Given the description of an element on the screen output the (x, y) to click on. 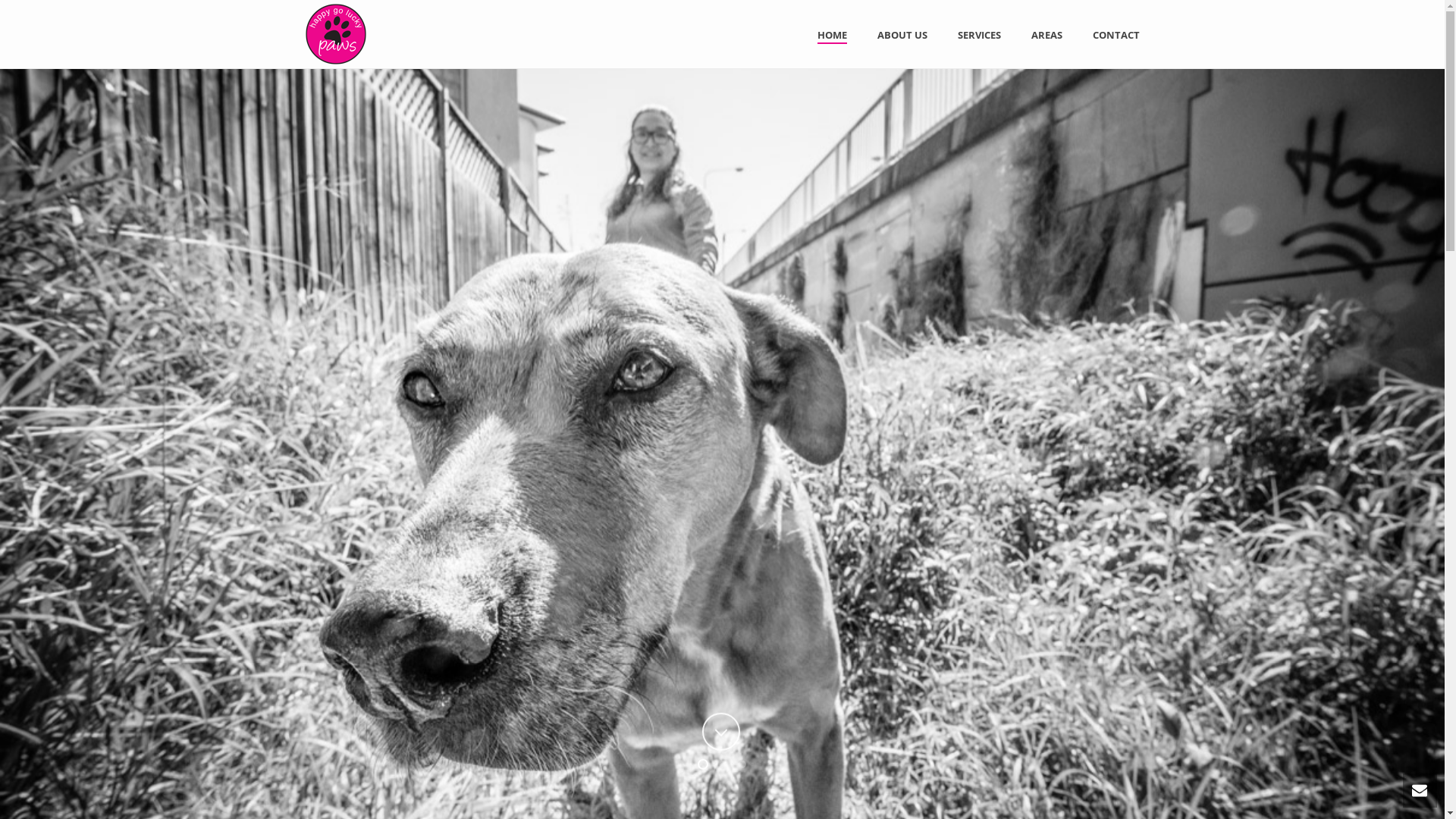
HOME Element type: text (832, 34)
ABOUT US Element type: text (901, 34)
AREAS Element type: text (1046, 34)
Dog Walking Service Eastern Suburbs Element type: hover (334, 33)
CONTACT Element type: text (1115, 34)
SERVICES Element type: text (978, 34)
